Given the description of an element on the screen output the (x, y) to click on. 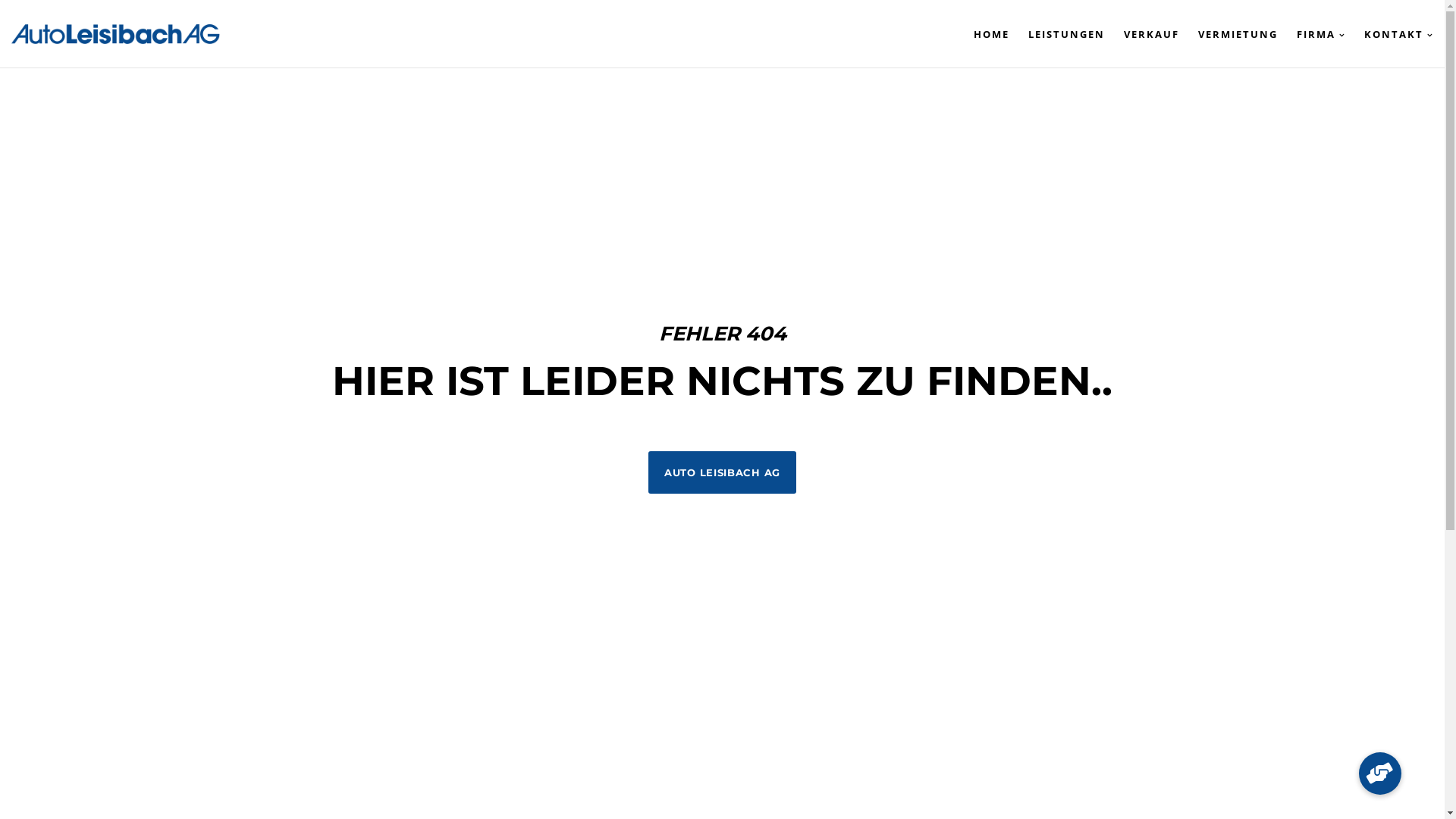
KONTAKT Element type: text (1389, 34)
FIRMA Element type: text (1311, 34)
HOME Element type: text (981, 34)
VERMIETUNG Element type: text (1228, 34)
VERKAUF Element type: text (1141, 34)
LEISTUNGEN Element type: text (1056, 34)
AUTO LEISIBACH AG Element type: text (722, 472)
